Given the description of an element on the screen output the (x, y) to click on. 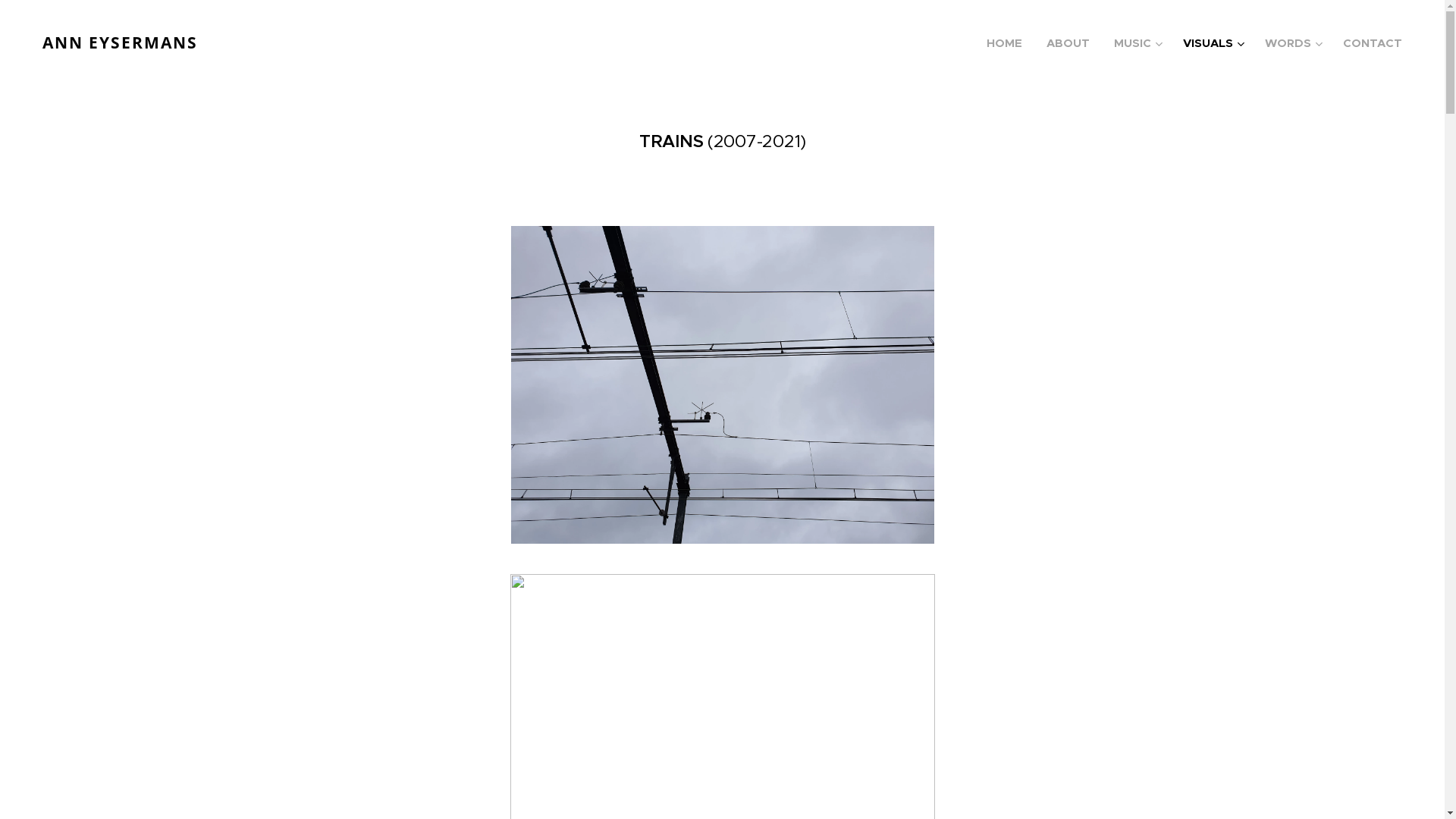
MUSIC Element type: text (1135, 43)
CONTACT Element type: text (1366, 43)
VISUALS Element type: text (1211, 43)
ANN EYSERMANS Element type: text (120, 43)
WORDS Element type: text (1291, 43)
HOME Element type: text (1008, 43)
ABOUT Element type: text (1067, 43)
